Given the description of an element on the screen output the (x, y) to click on. 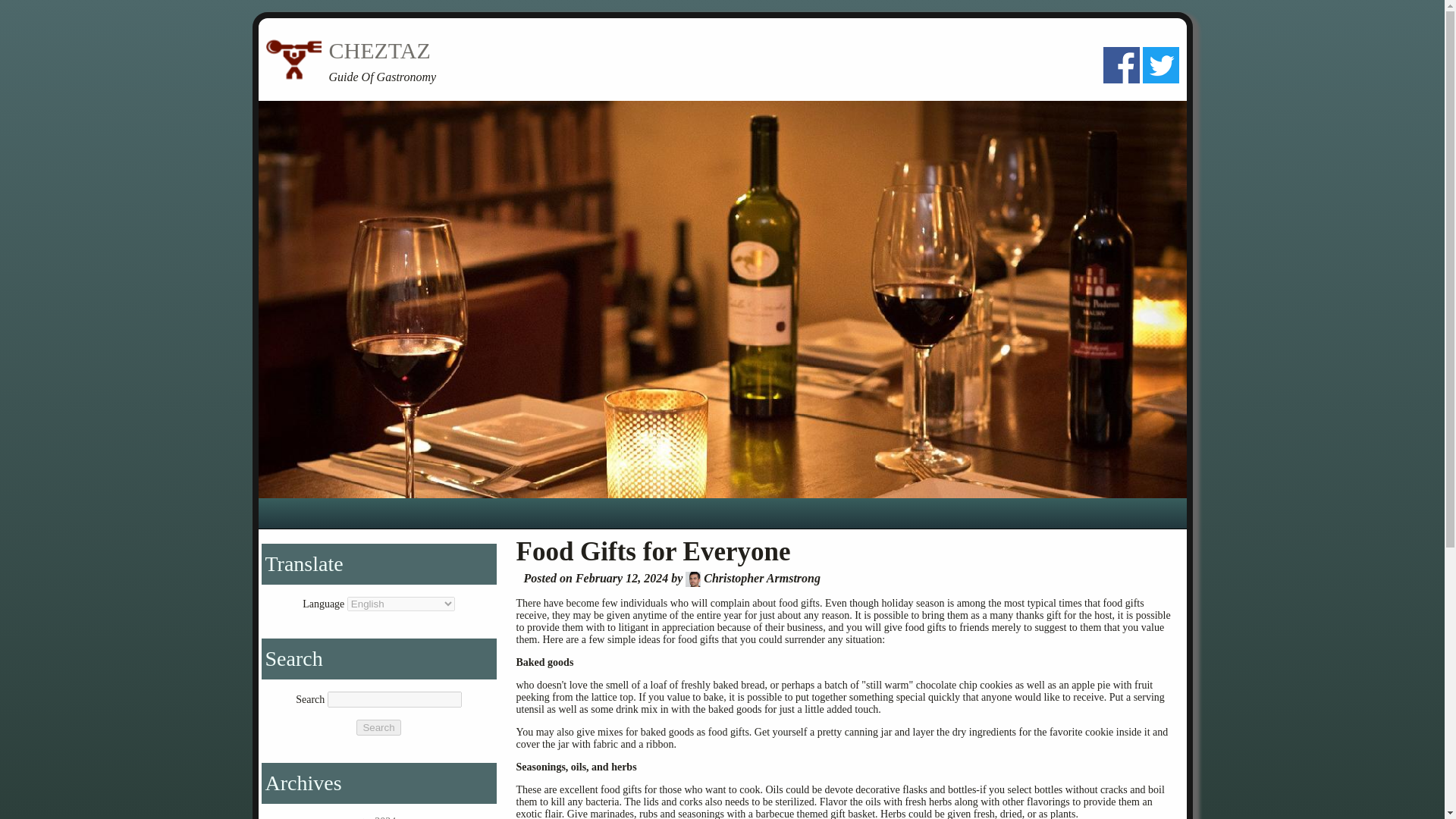
2024 (385, 817)
Search (378, 727)
Christopher Armstrong (692, 579)
CHEZTAZ (379, 50)
